Given the description of an element on the screen output the (x, y) to click on. 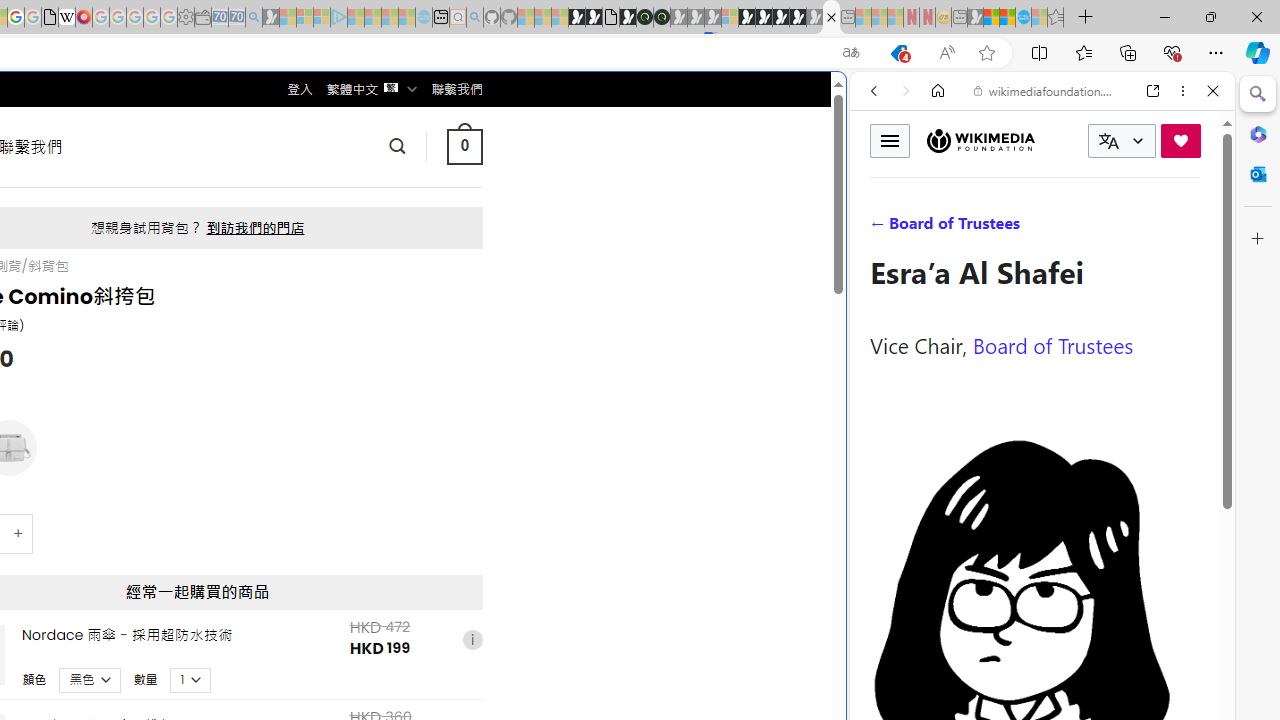
Wiktionary (1034, 669)
github - Search - Sleeping (474, 17)
This site has coupons! Shopping in Microsoft Edge, 4 (898, 53)
Search or enter web address (343, 191)
MediaWiki (83, 17)
i (472, 639)
